Given the description of an element on the screen output the (x, y) to click on. 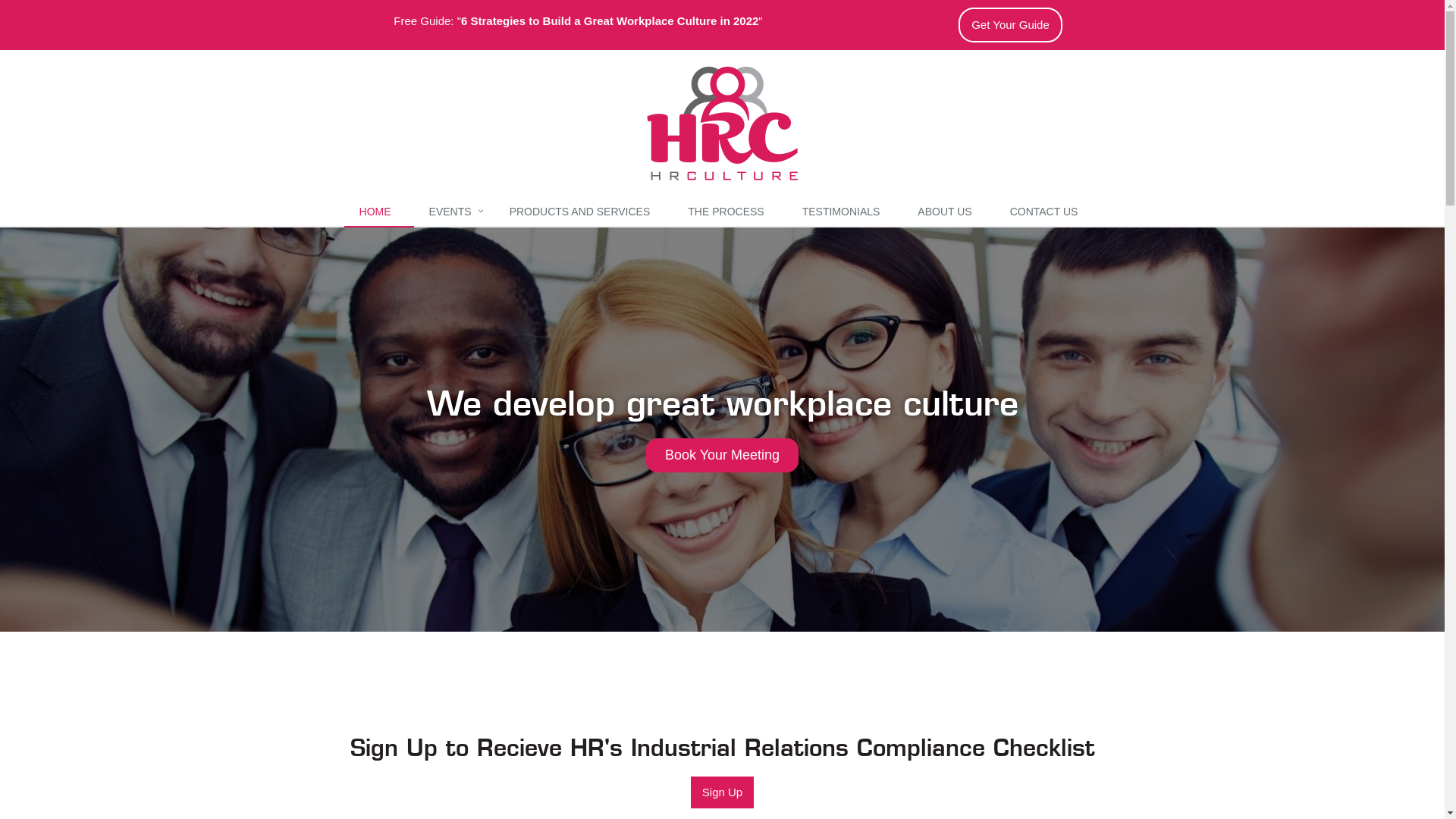
TESTIMONIALS Element type: text (845, 212)
CONTACT US Element type: text (1047, 212)
Get Your Guide Element type: text (1010, 24)
PRODUCTS AND SERVICES Element type: text (583, 212)
Book Your Meeting Element type: text (722, 455)
HOME Element type: text (379, 212)
EVENTS Element type: text (454, 212)
THE PROCESS Element type: text (729, 212)
ABOUT US Element type: text (948, 212)
Sign Up Element type: text (721, 792)
